Given the description of an element on the screen output the (x, y) to click on. 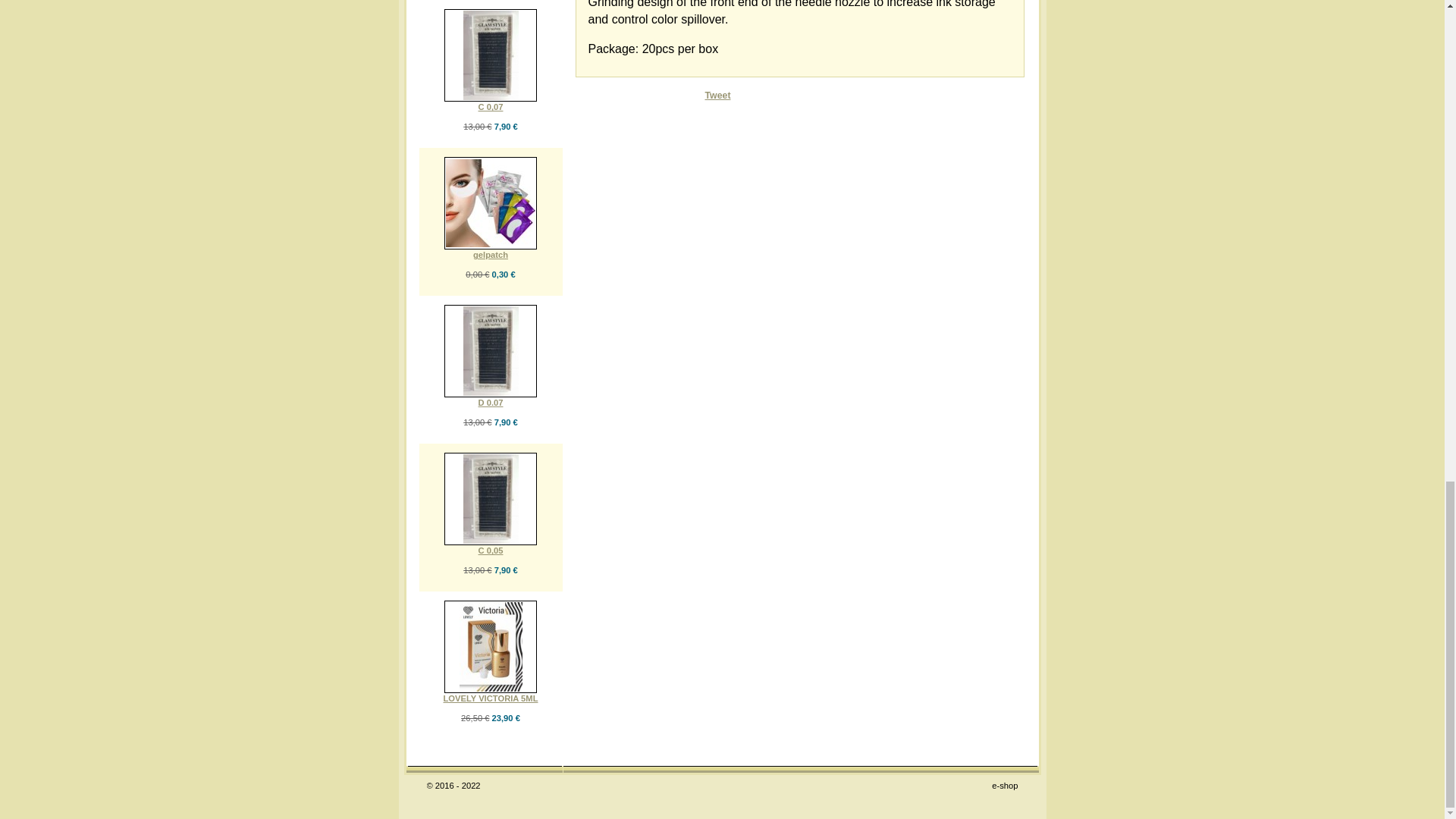
C 0,07 (491, 106)
Tweet (717, 95)
D 0.07 (491, 402)
gelpatch (490, 254)
